Given the description of an element on the screen output the (x, y) to click on. 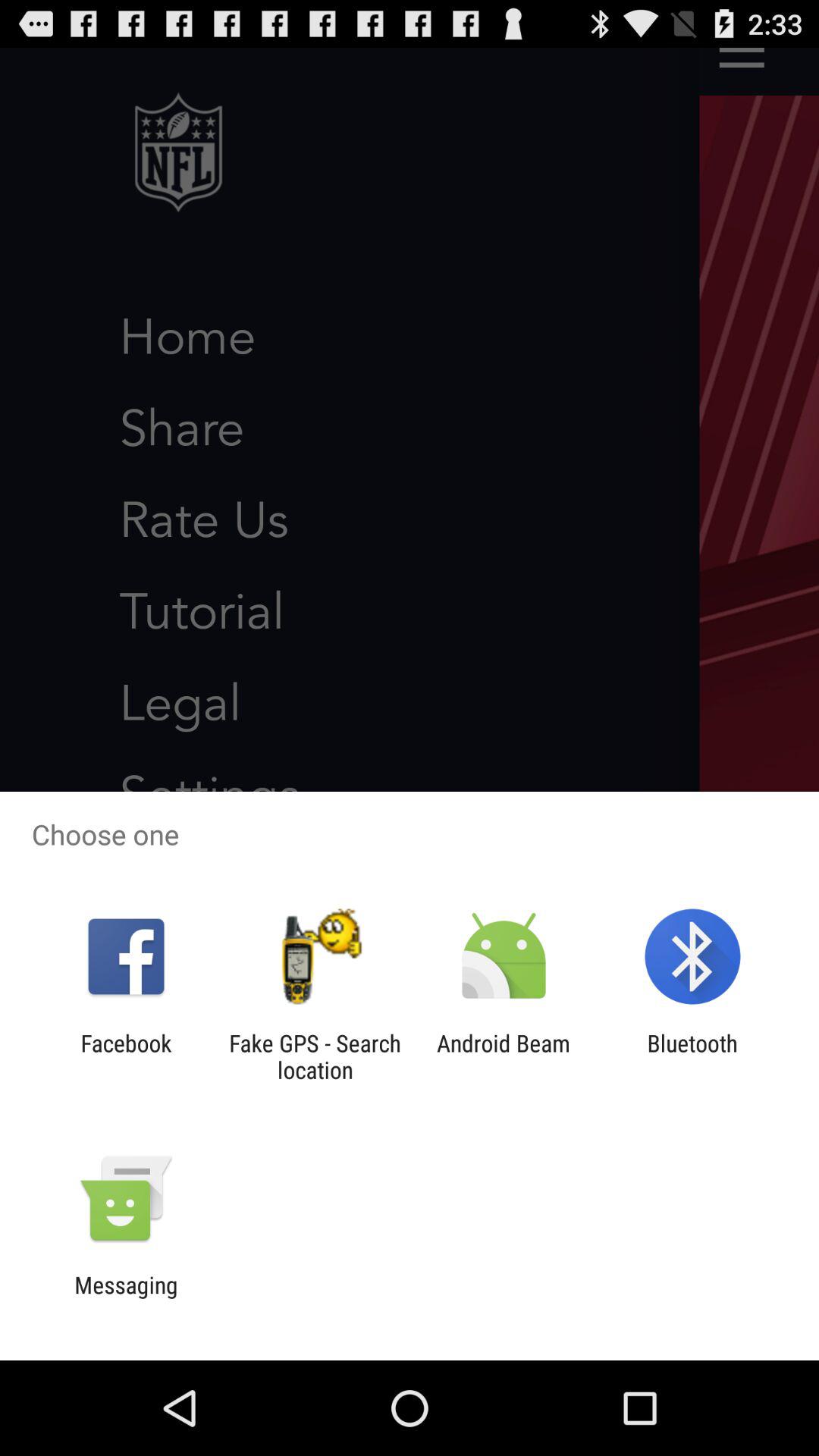
tap the item next to the bluetooth app (503, 1056)
